Given the description of an element on the screen output the (x, y) to click on. 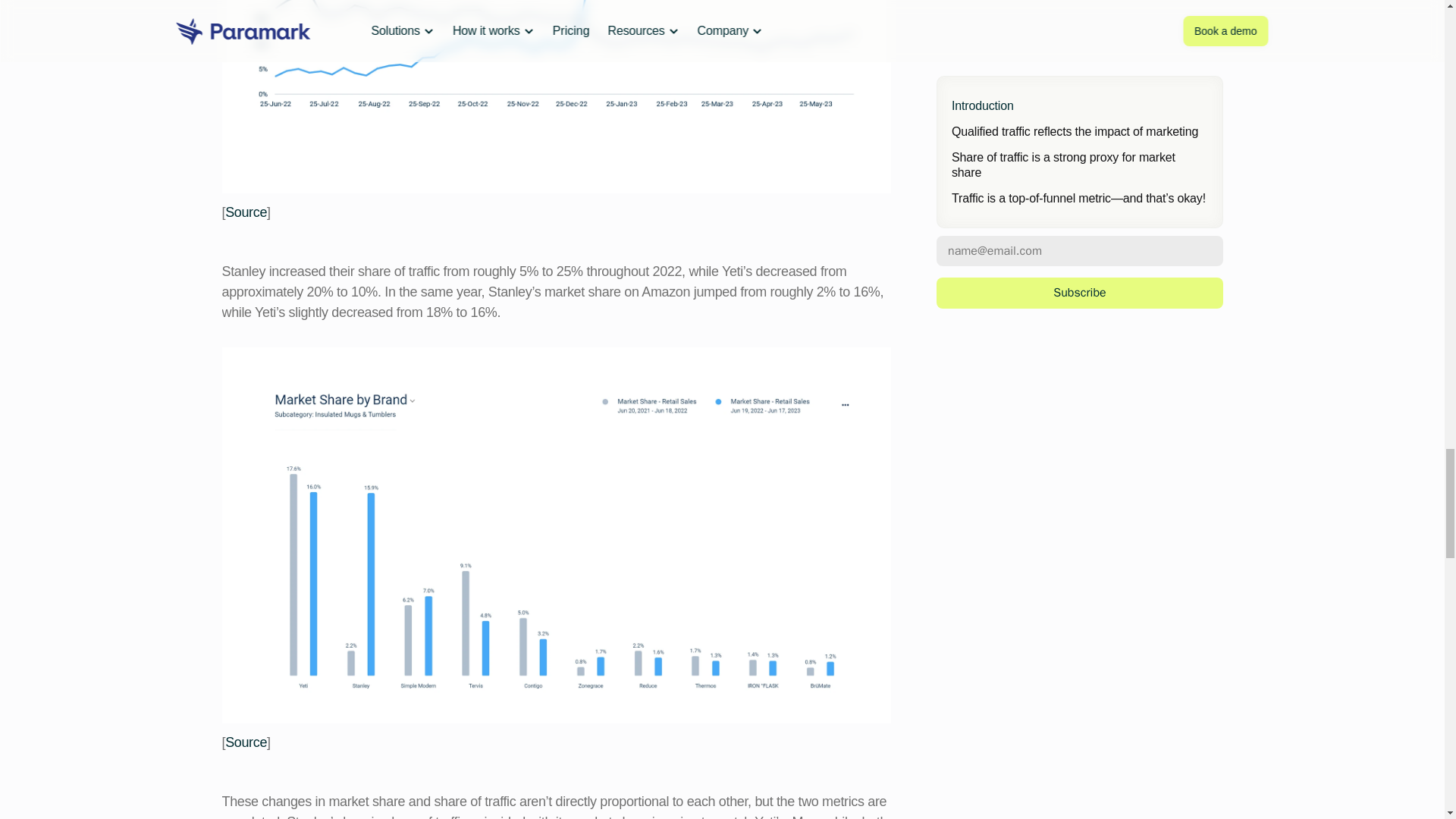
Source (245, 742)
Source (245, 212)
